Given the description of an element on the screen output the (x, y) to click on. 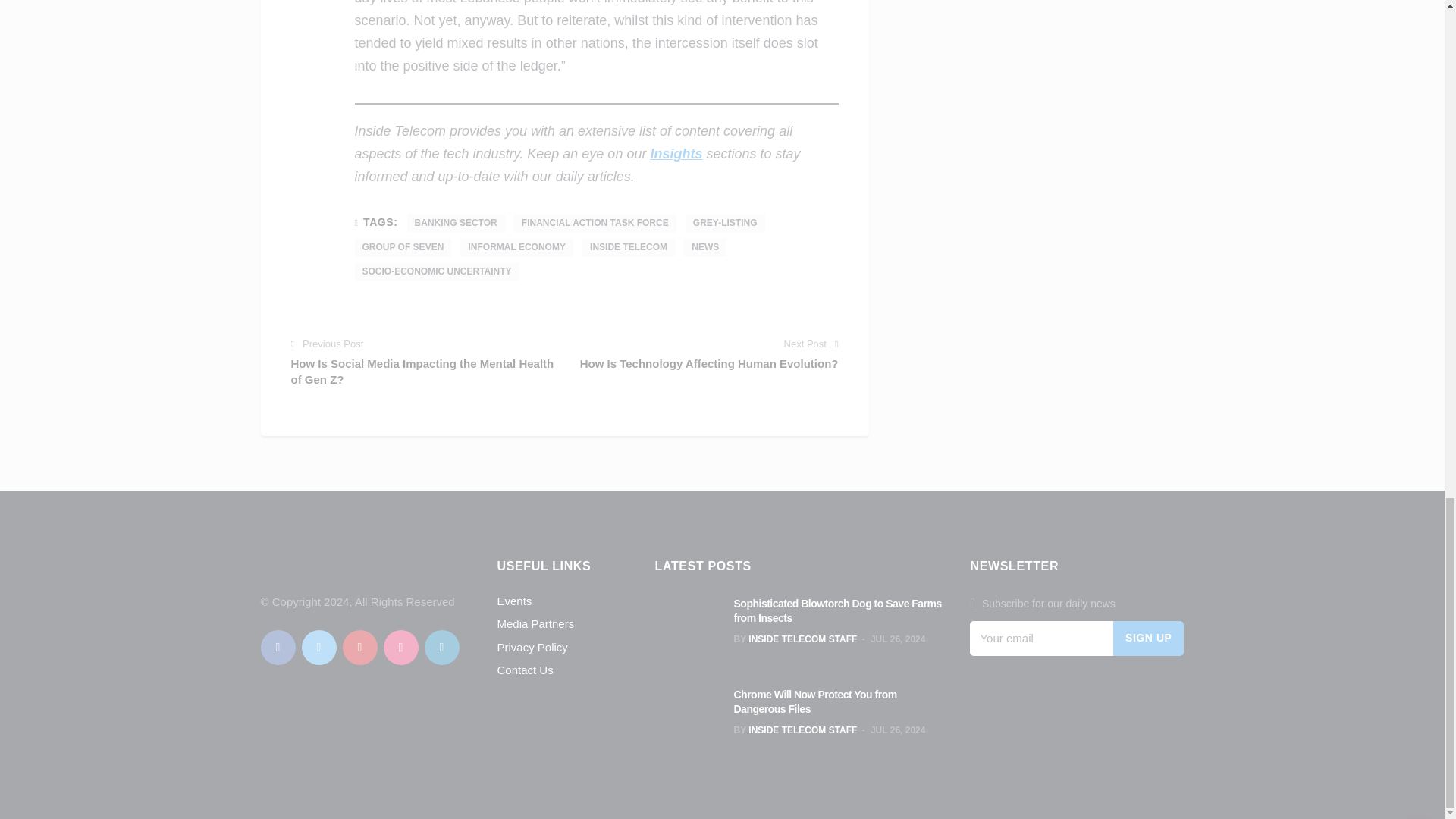
Sign Up (1149, 638)
